Given the description of an element on the screen output the (x, y) to click on. 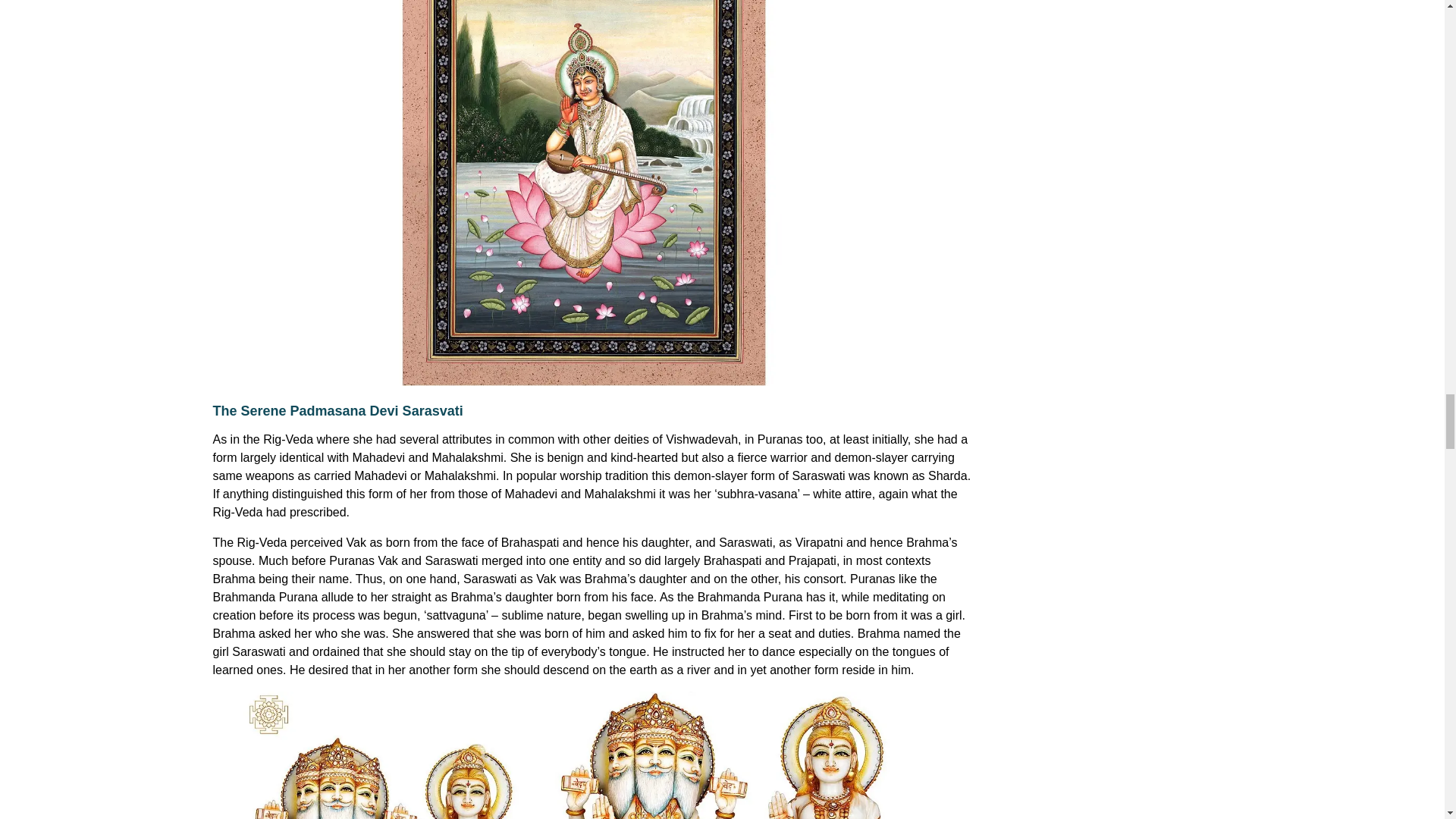
The Serene Padmasana Devi Sarasvati (337, 410)
